Given the description of an element on the screen output the (x, y) to click on. 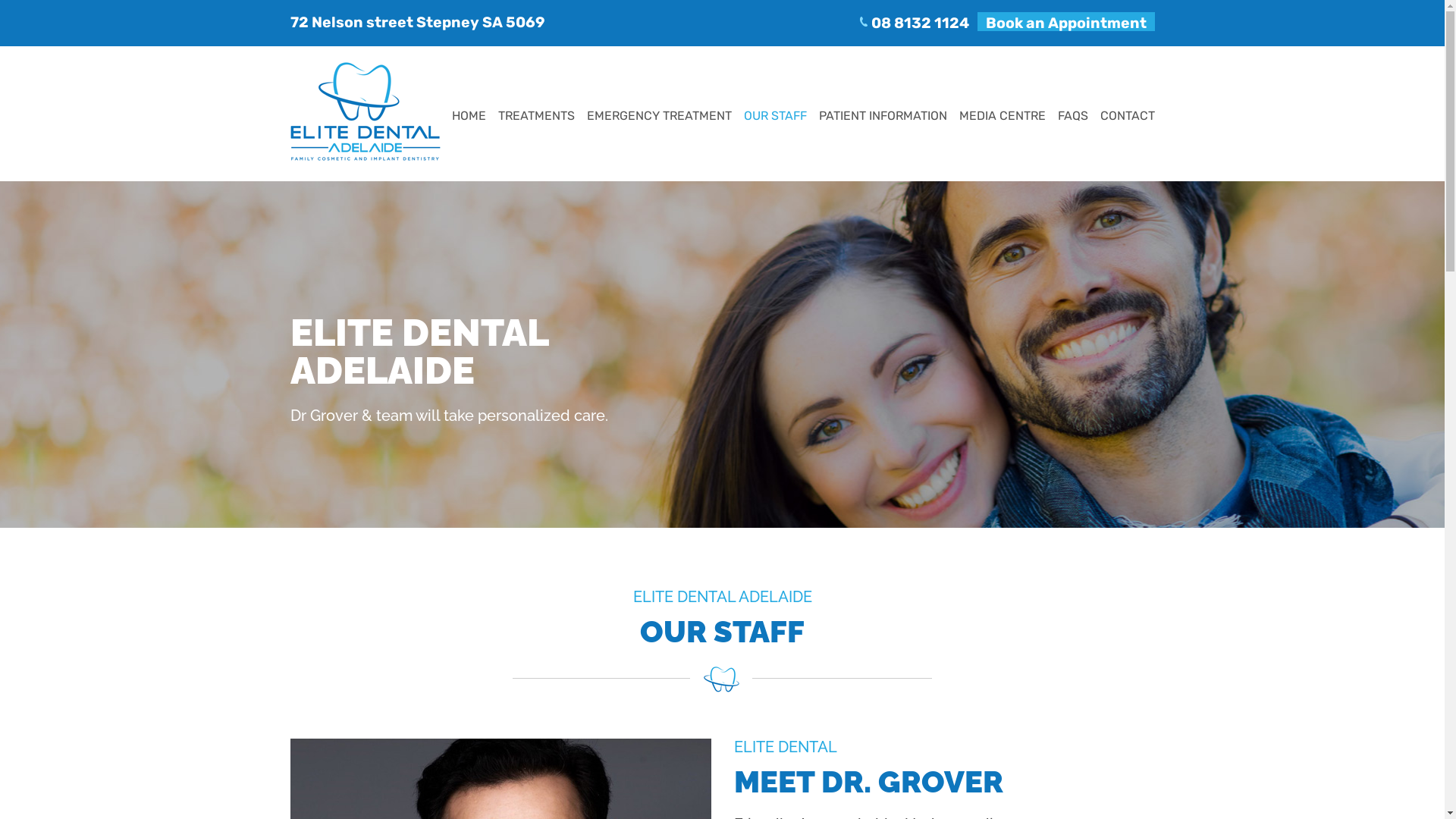
TREATMENTS Element type: text (535, 117)
HOME Element type: text (468, 117)
08 8132 1124 Element type: text (918, 21)
PATIENT INFORMATION Element type: text (883, 117)
OUR STAFF Element type: text (774, 117)
CONTACT Element type: text (1126, 117)
EMERGENCY TREATMENT Element type: text (658, 117)
MEDIA CENTRE Element type: text (1001, 117)
Book an Appointment Element type: text (1065, 21)
FAQS Element type: text (1072, 117)
